Given the description of an element on the screen output the (x, y) to click on. 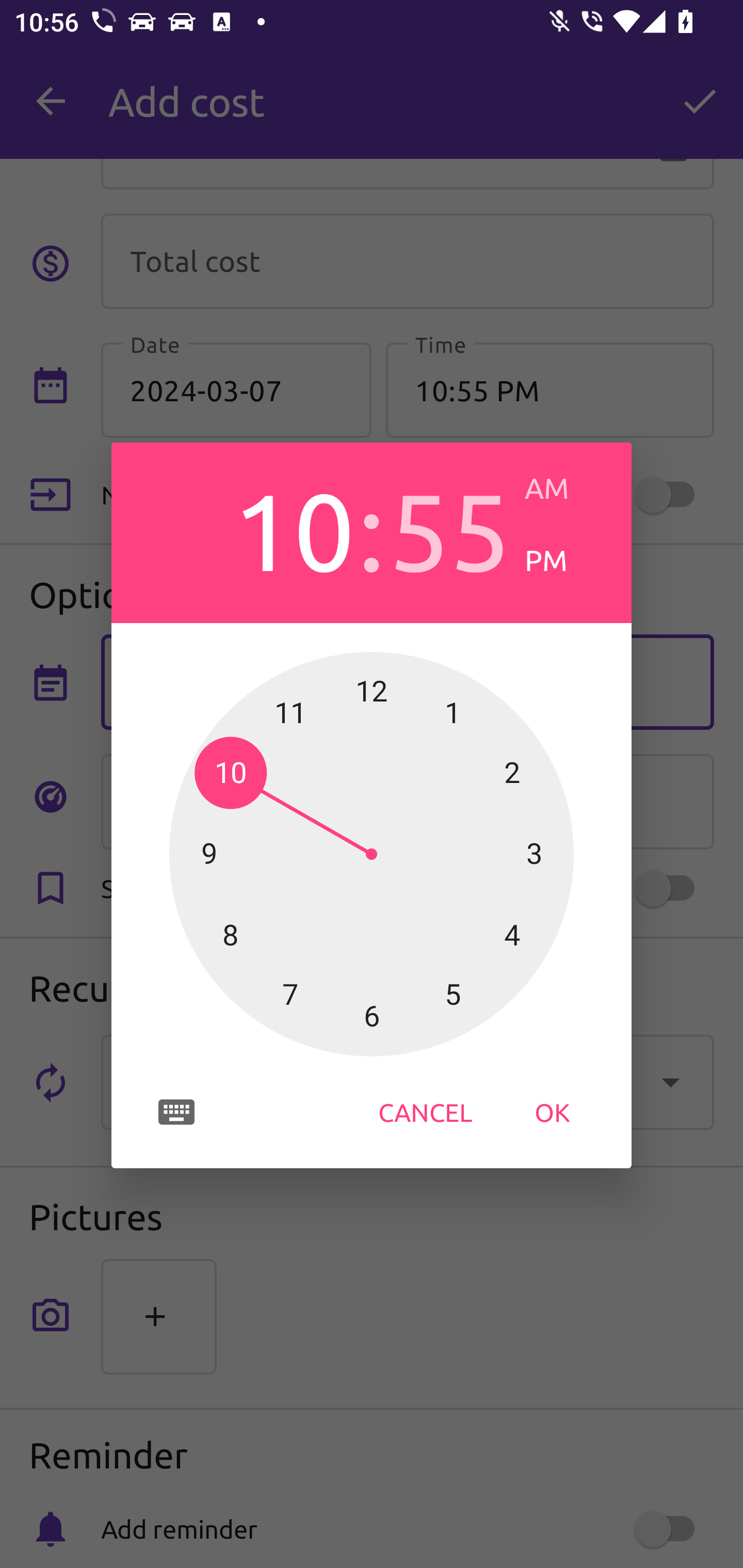
AM (563, 488)
10 (293, 528)
55 (449, 528)
PM (563, 560)
CANCEL (425, 1111)
OK (552, 1111)
Switch to text input mode for the time input. (175, 1112)
